Given the description of an element on the screen output the (x, y) to click on. 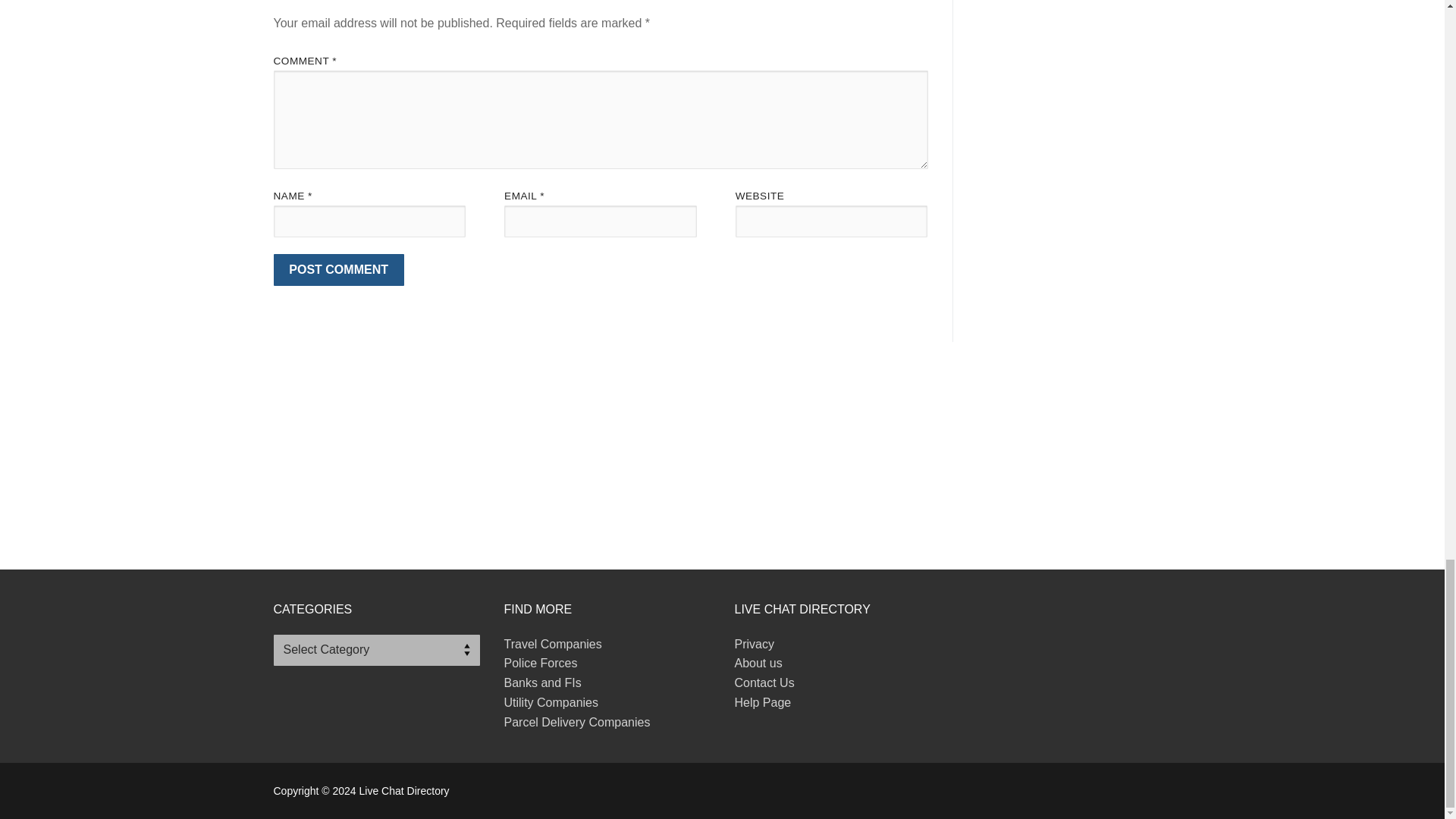
Post Comment (338, 269)
